Given the description of an element on the screen output the (x, y) to click on. 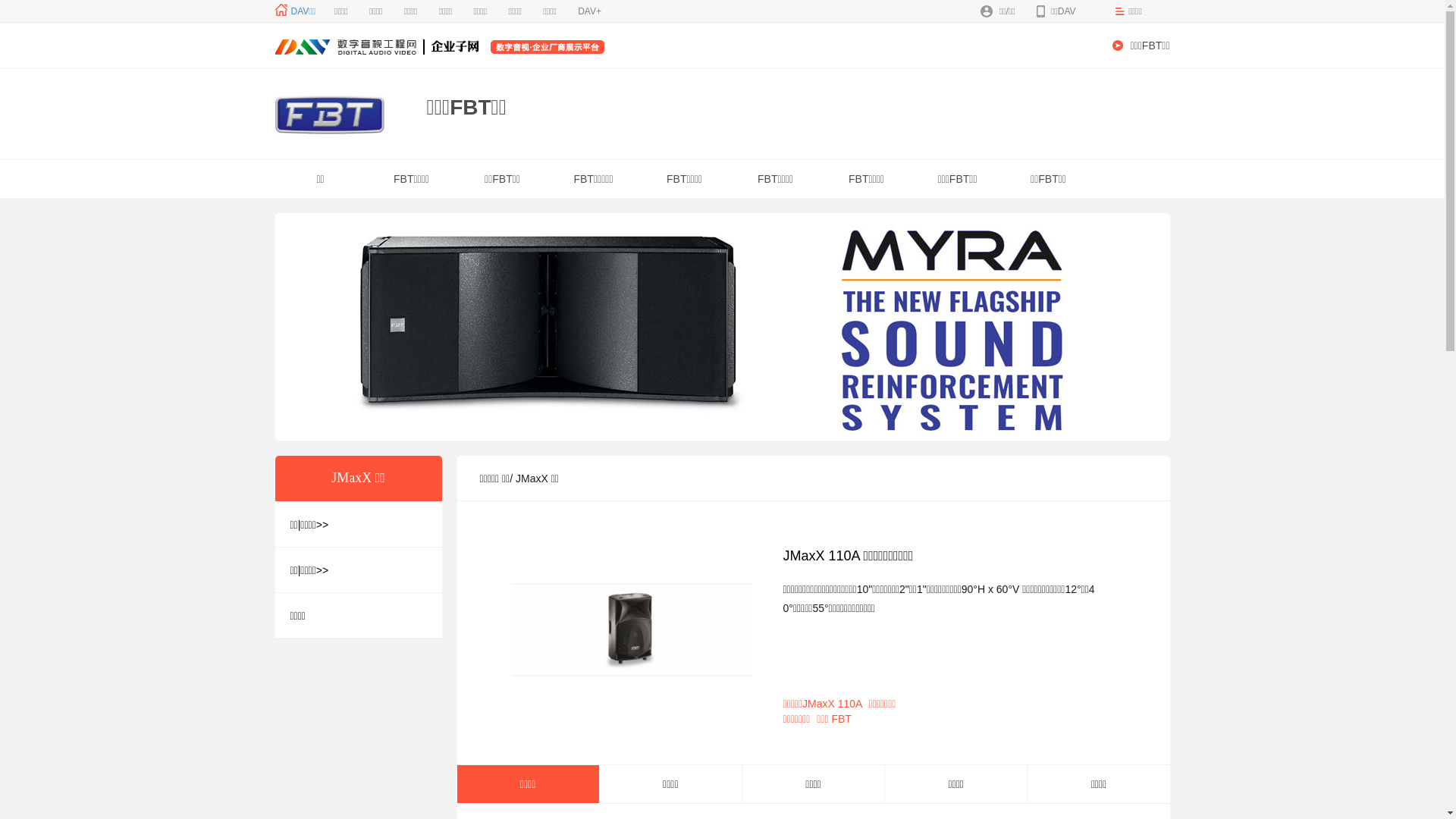
DAV+ Element type: text (589, 11)
